Given the description of an element on the screen output the (x, y) to click on. 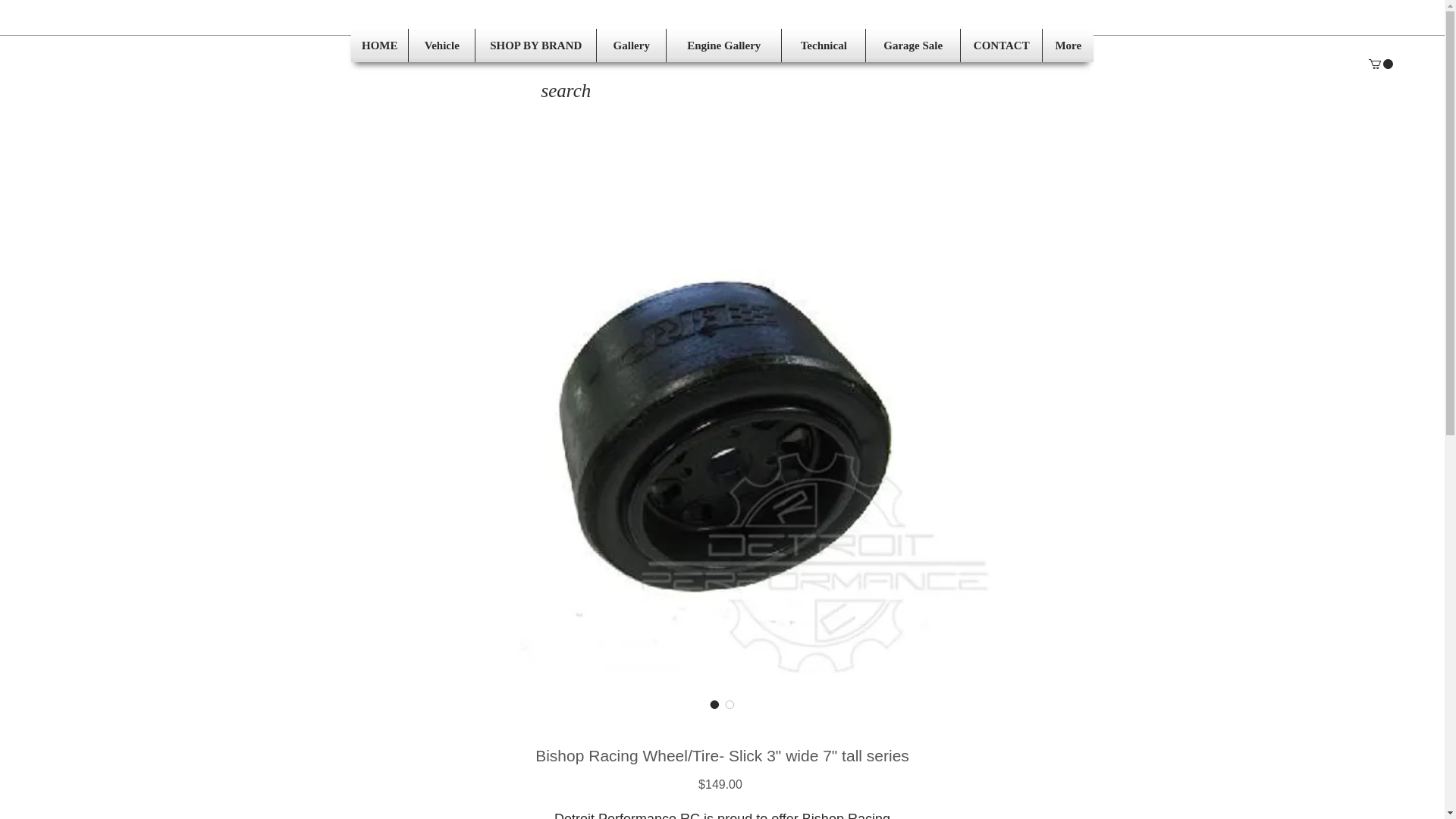
HOME (378, 45)
SHOP BY BRAND (535, 45)
Vehicle (441, 45)
